Given the description of an element on the screen output the (x, y) to click on. 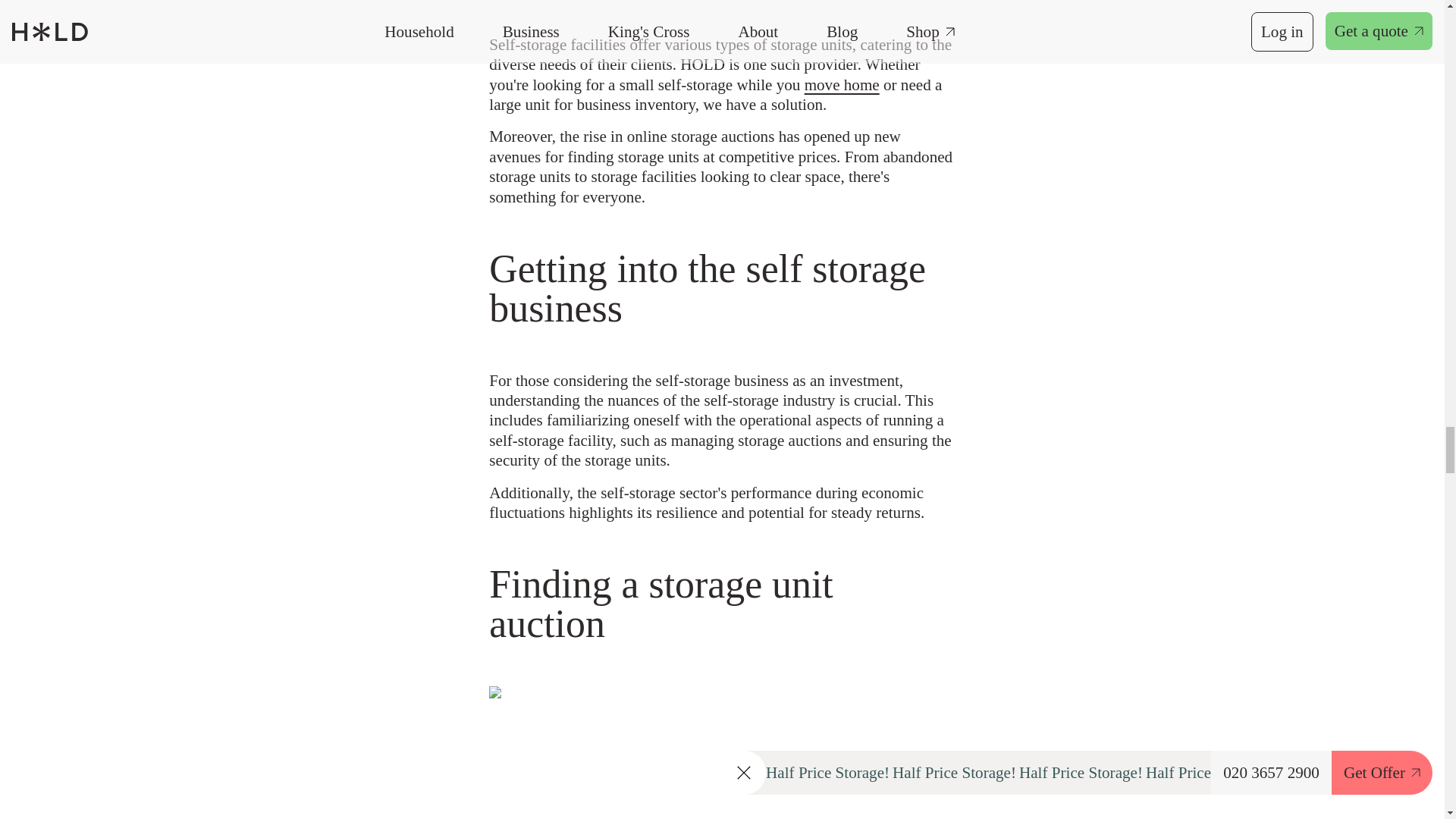
move home (842, 85)
